Given the description of an element on the screen output the (x, y) to click on. 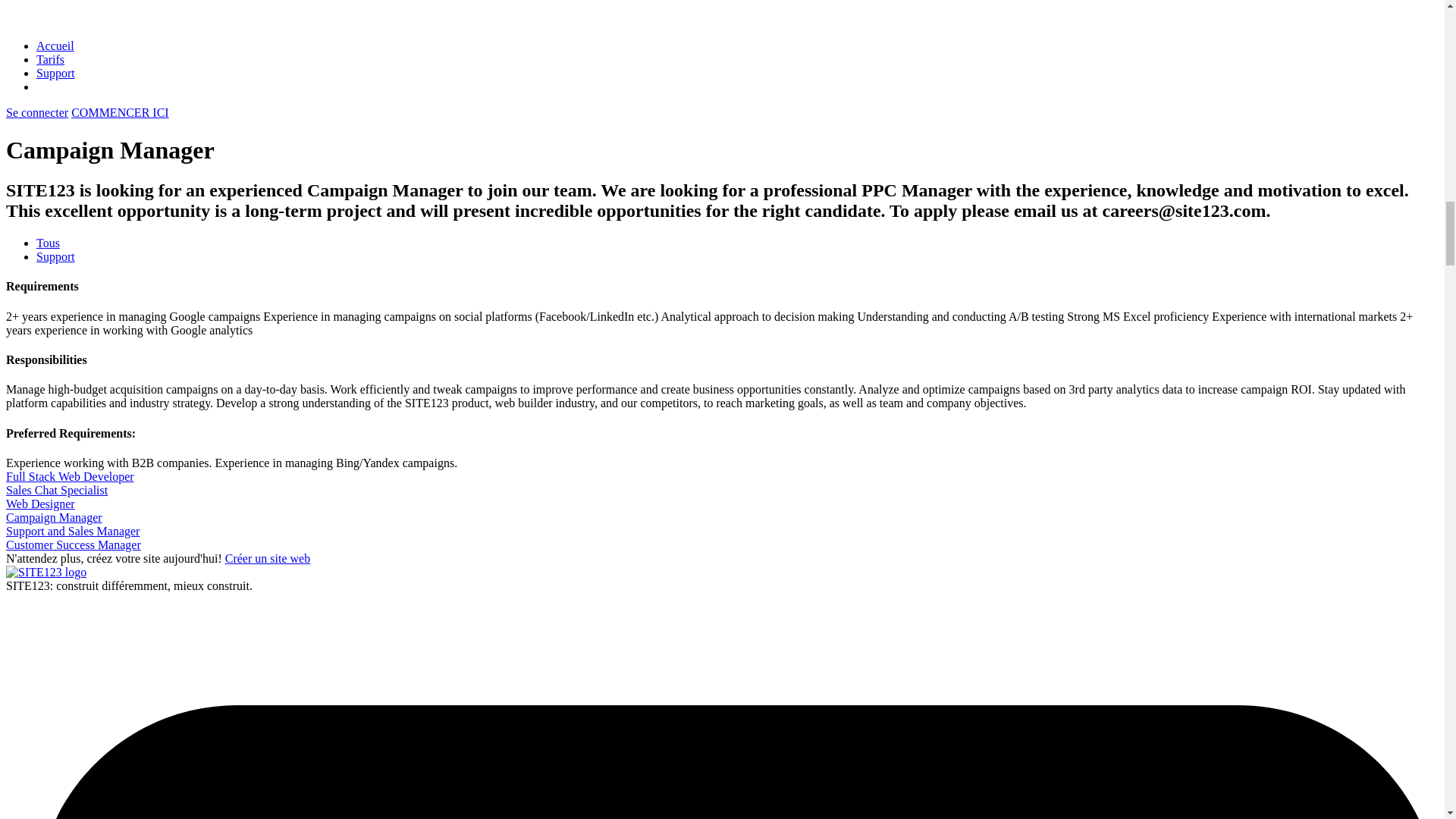
Tarifs (50, 59)
Accueil (55, 45)
COMMENCER ICI (119, 112)
Se connecter (36, 112)
Support (55, 72)
Tous (47, 242)
Support (55, 256)
